Given the description of an element on the screen output the (x, y) to click on. 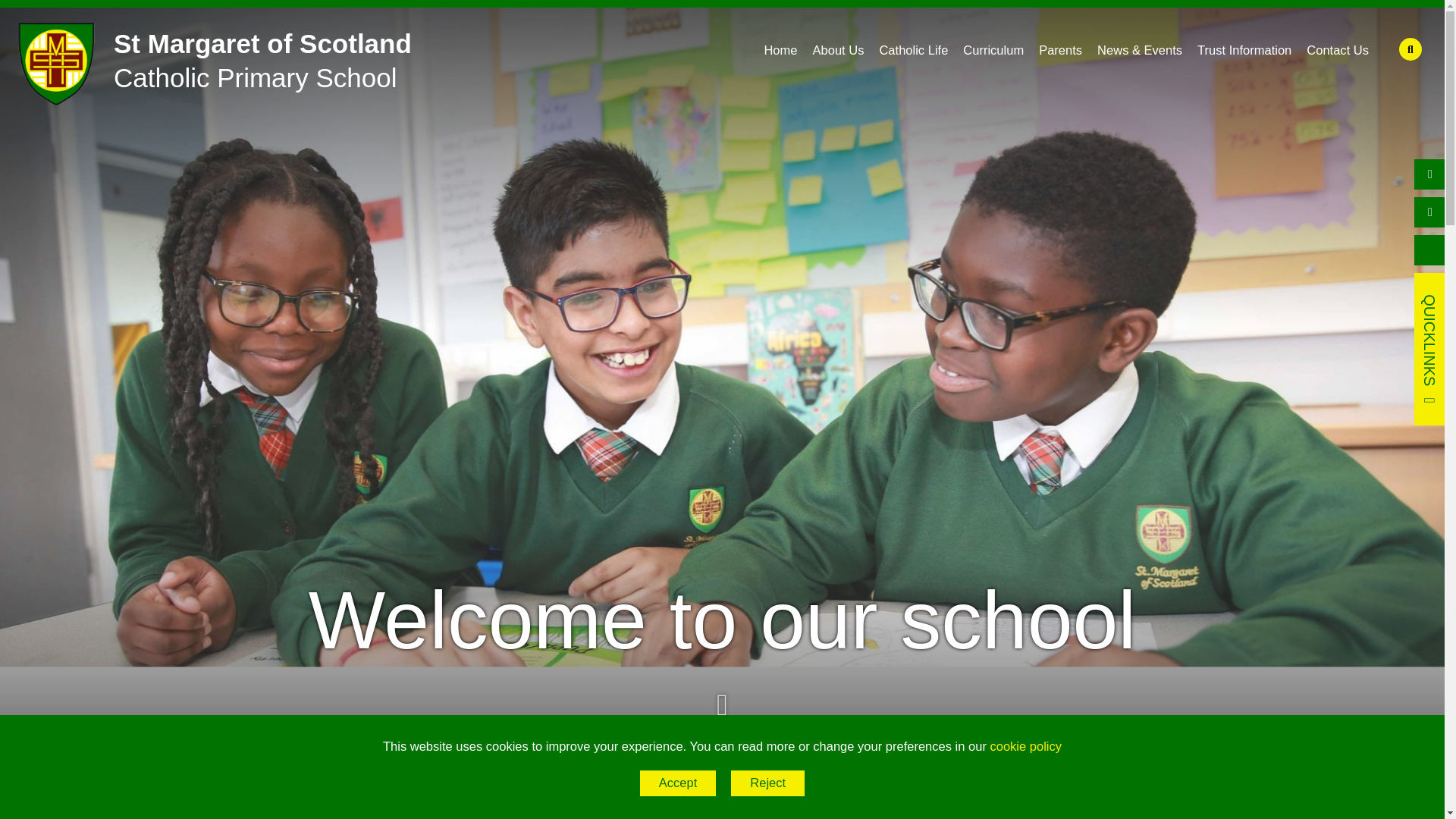
Catholic Life (206, 56)
Catholic Life (912, 45)
Curriculum (912, 45)
